Given the description of an element on the screen output the (x, y) to click on. 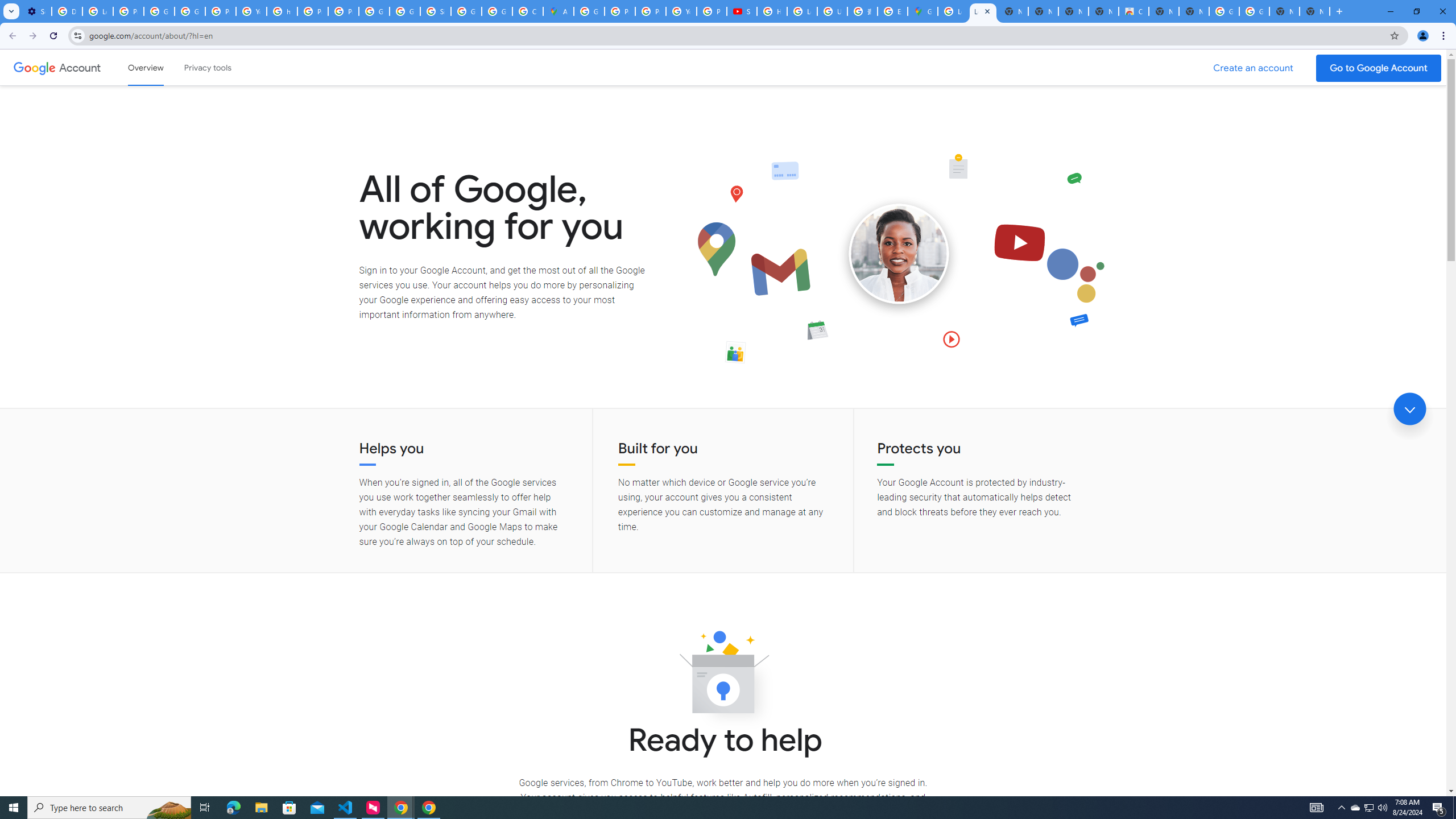
Google Account (80, 67)
Create a Google Account (1253, 67)
Settings - Performance (36, 11)
Go to your Google Account (1378, 67)
Google Account overview (145, 67)
Privacy Help Center - Policies Help (619, 11)
